Given the description of an element on the screen output the (x, y) to click on. 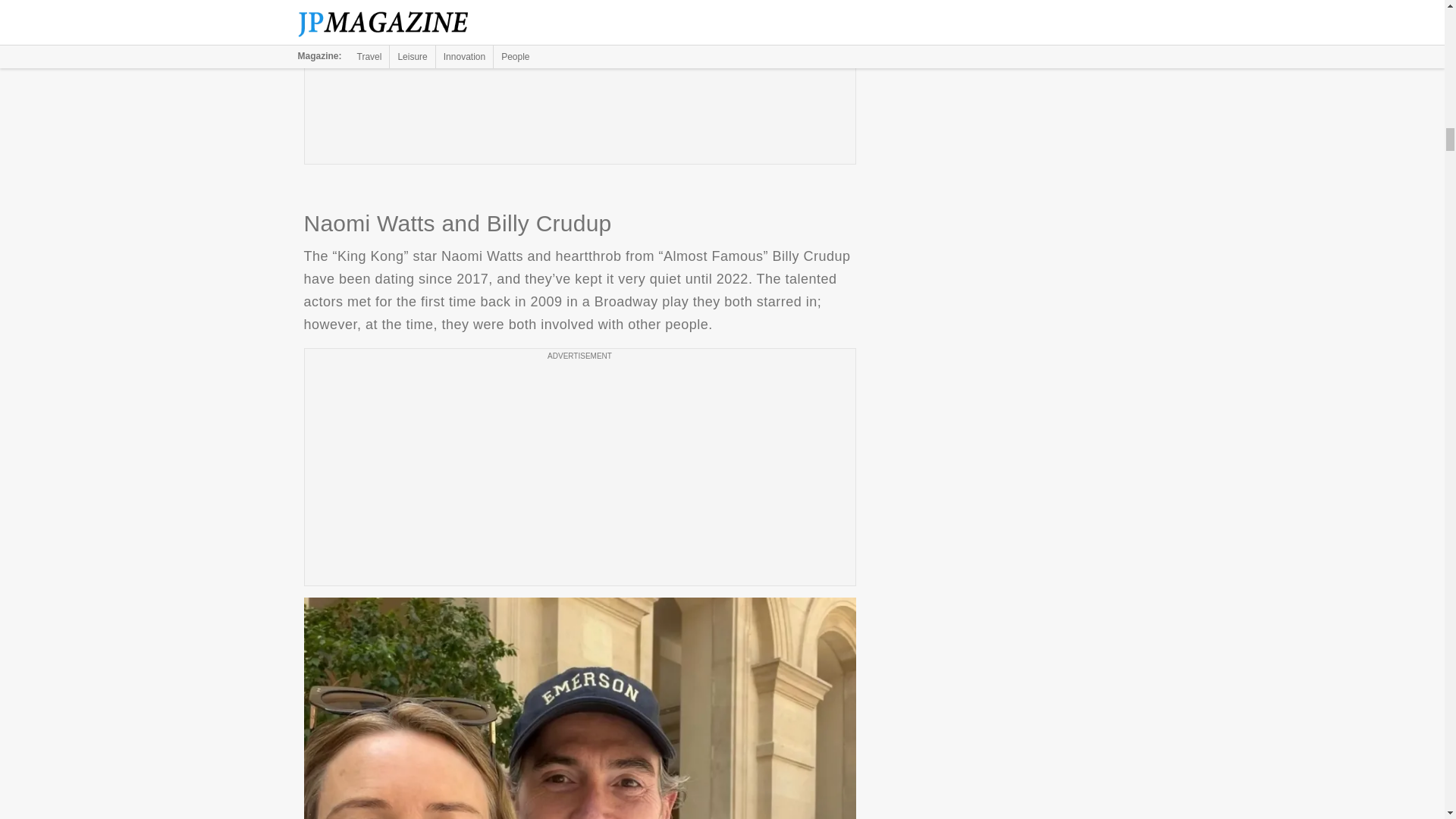
Naomi Watts and Billy Crudup (579, 708)
